Given the description of an element on the screen output the (x, y) to click on. 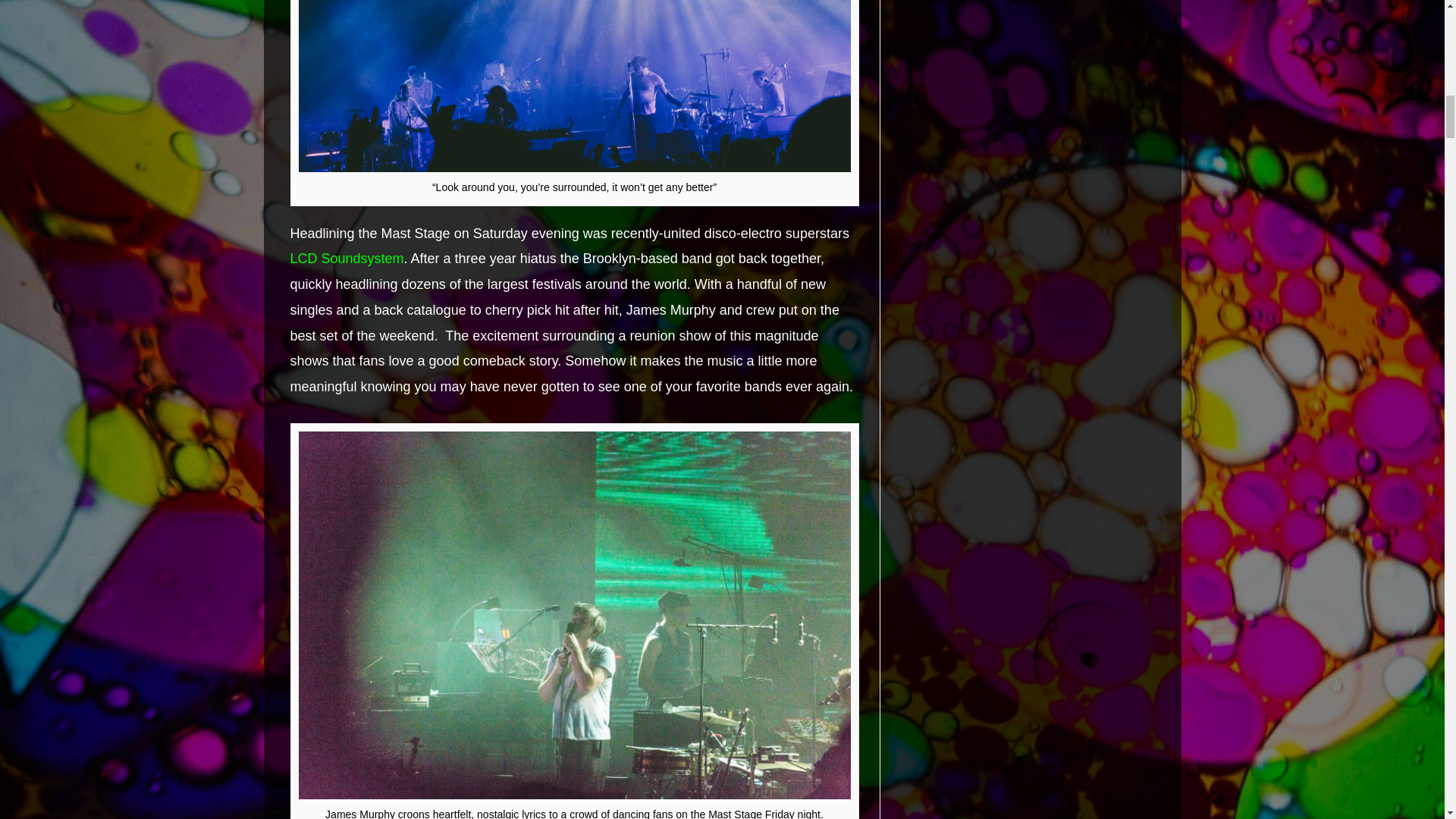
LCD Soundsystem (346, 258)
